Given the description of an element on the screen output the (x, y) to click on. 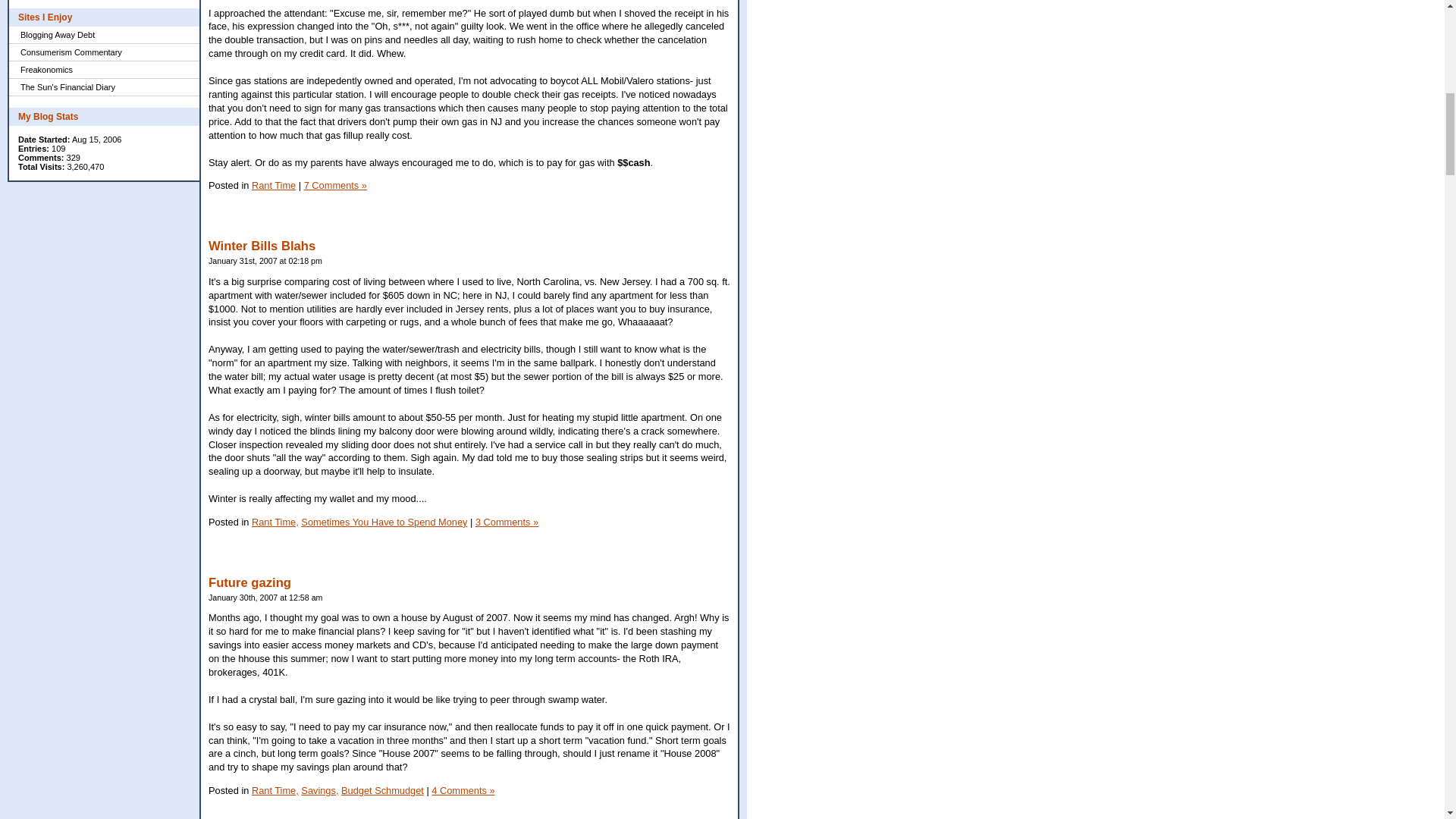
Consumerism Commentary (103, 52)
Freakonomics (103, 69)
Blogging Away Debt (103, 35)
